Given the description of an element on the screen output the (x, y) to click on. 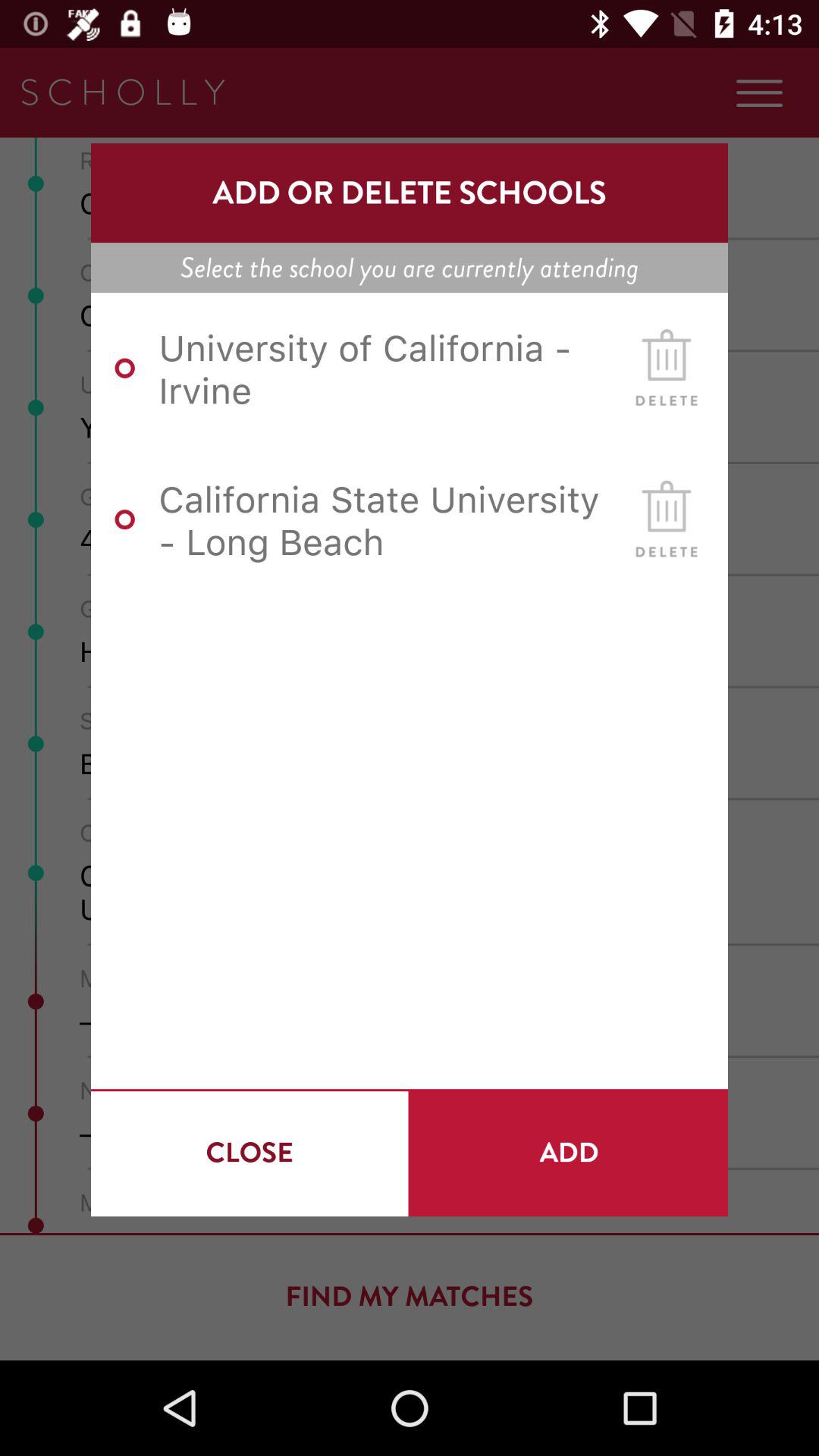
select close icon (249, 1152)
